Given the description of an element on the screen output the (x, y) to click on. 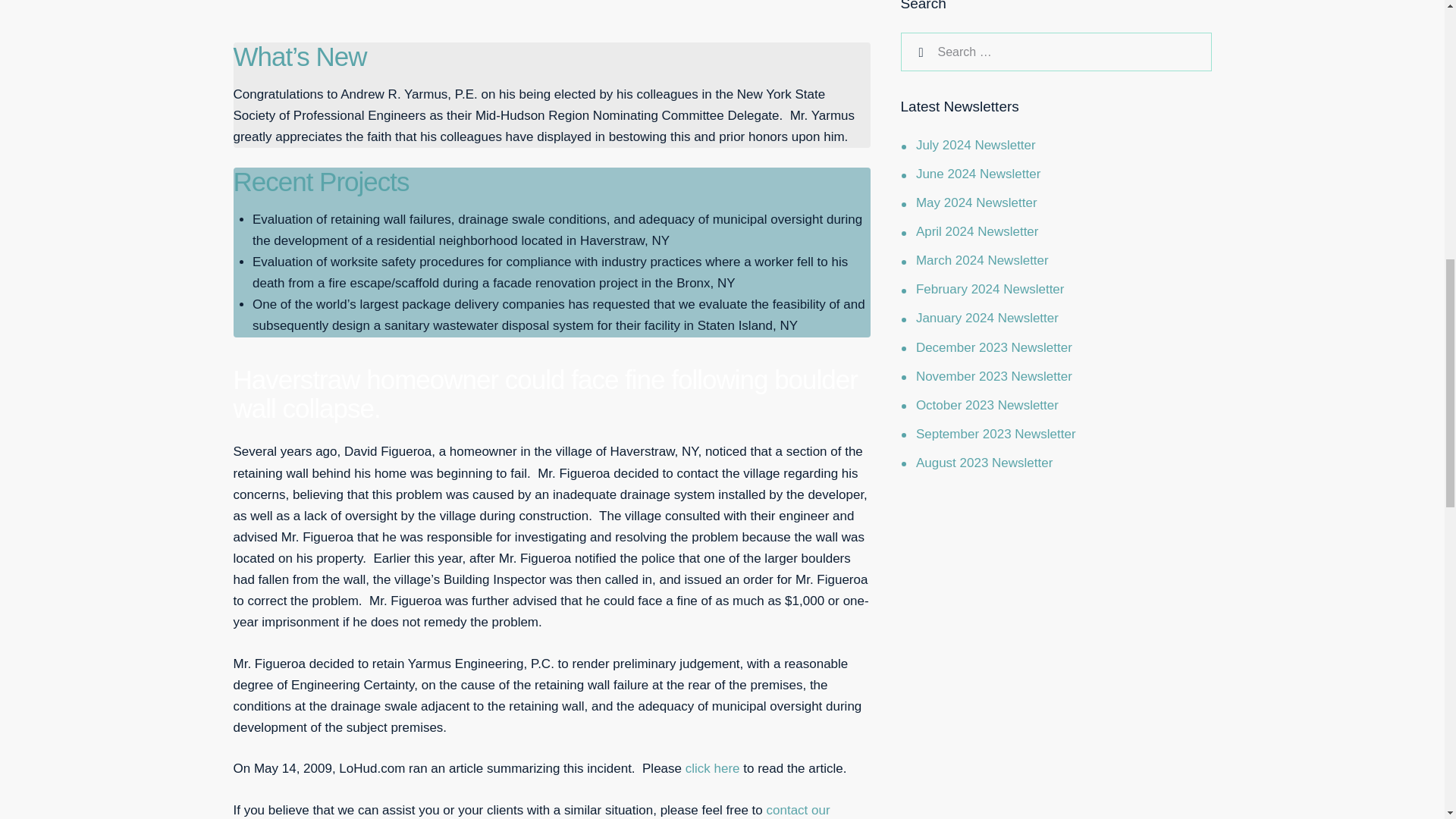
contact our office (530, 811)
click here (712, 768)
